Given the description of an element on the screen output the (x, y) to click on. 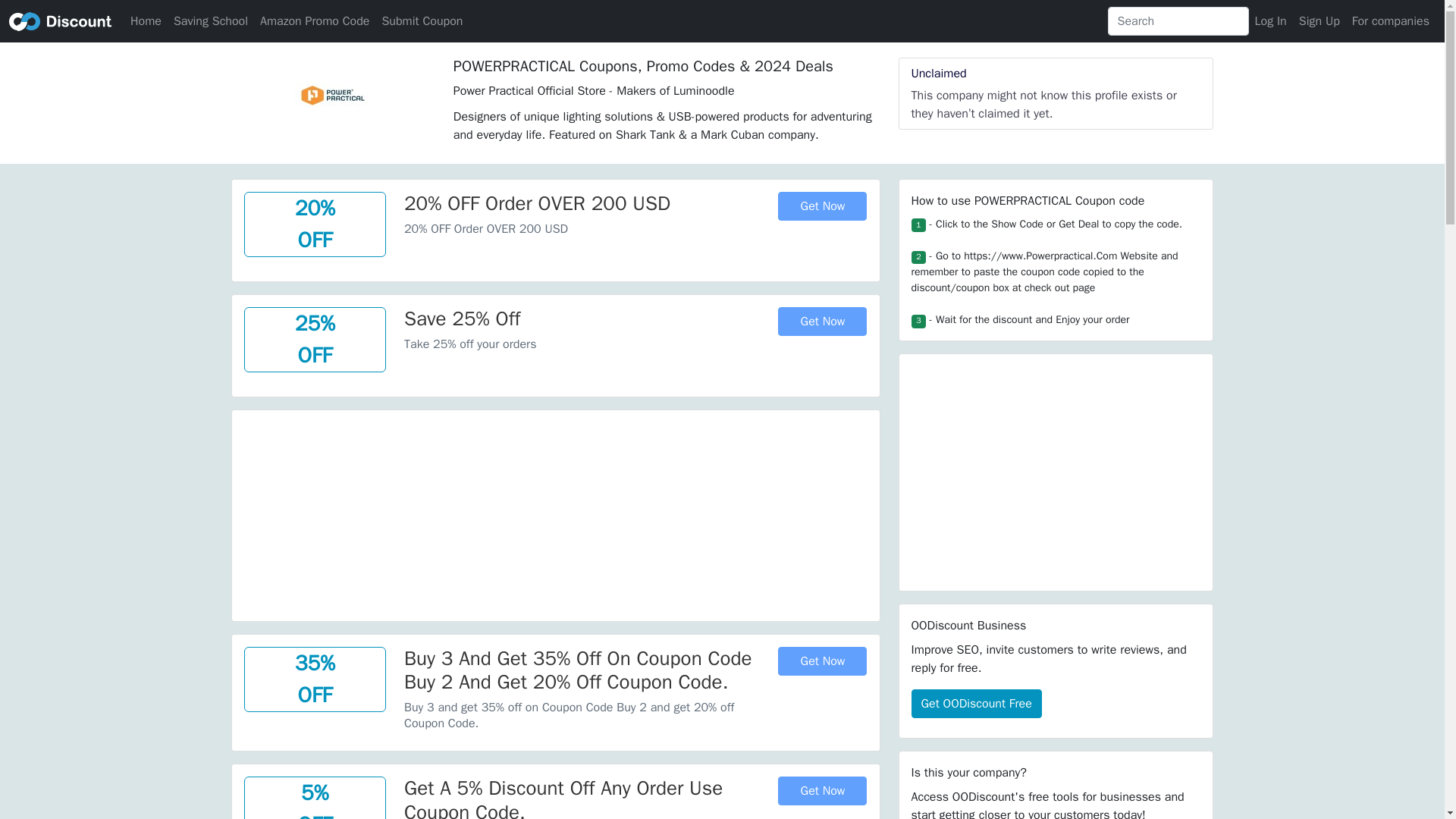
Log In (1270, 20)
Advertisement (555, 516)
Sign Up (1318, 20)
Get Now (821, 661)
Get Now (821, 321)
Home (145, 20)
Get Now (821, 790)
Get Now (821, 205)
Saving School (210, 20)
Amazon Promo Code (314, 20)
